Given the description of an element on the screen output the (x, y) to click on. 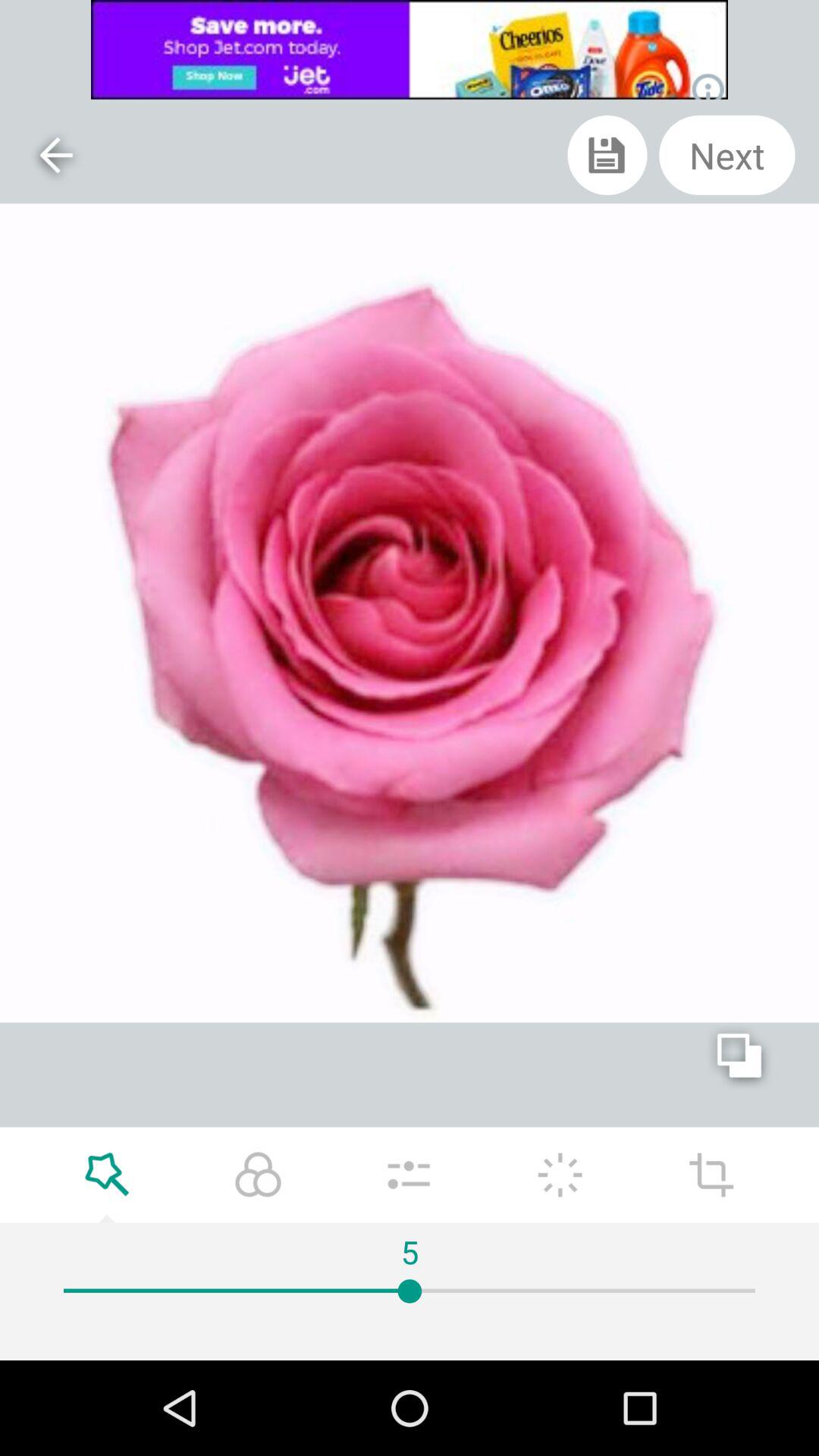
select options (408, 1174)
